Given the description of an element on the screen output the (x, y) to click on. 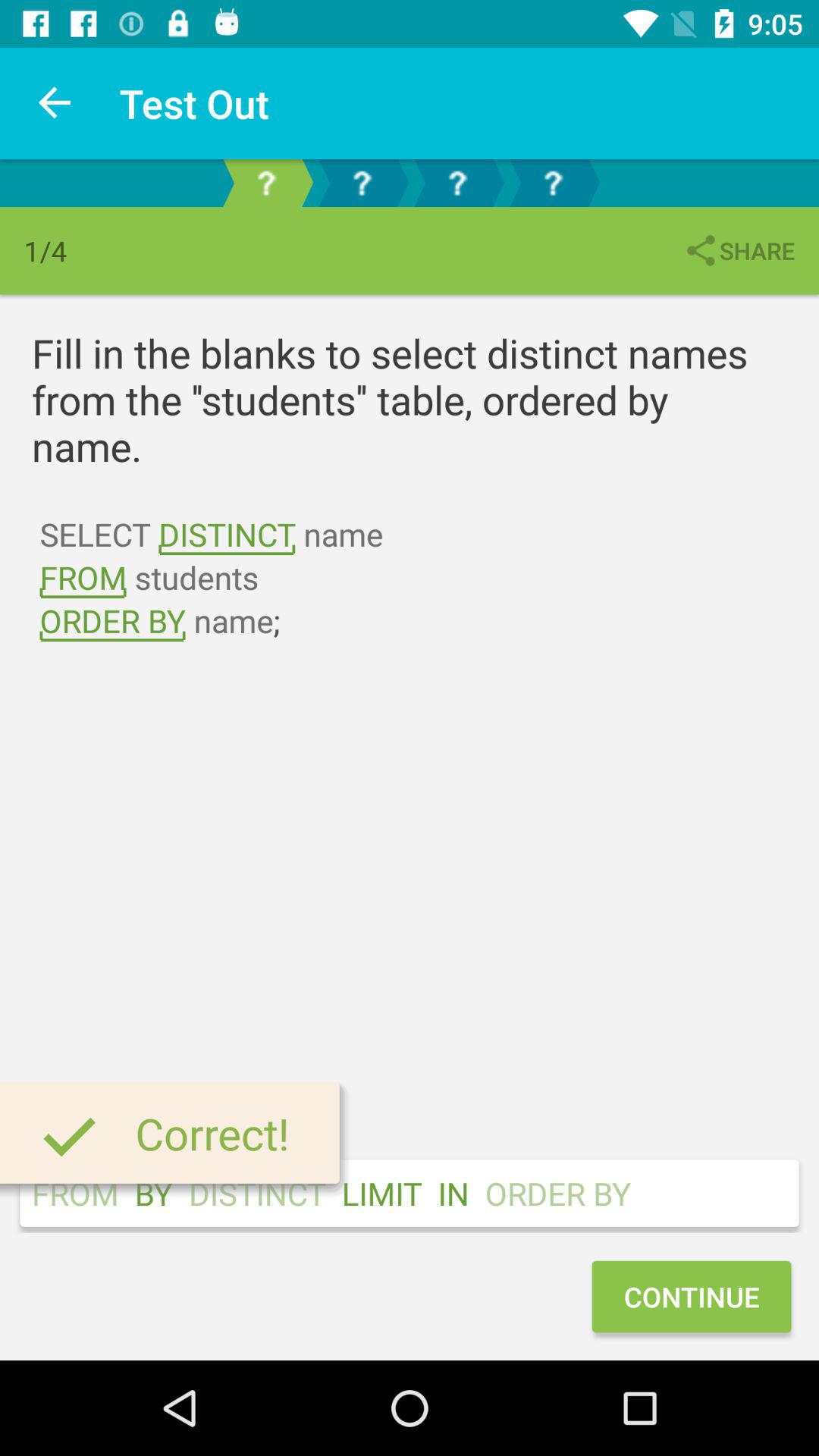
open icon to the left of test out (55, 103)
